Given the description of an element on the screen output the (x, y) to click on. 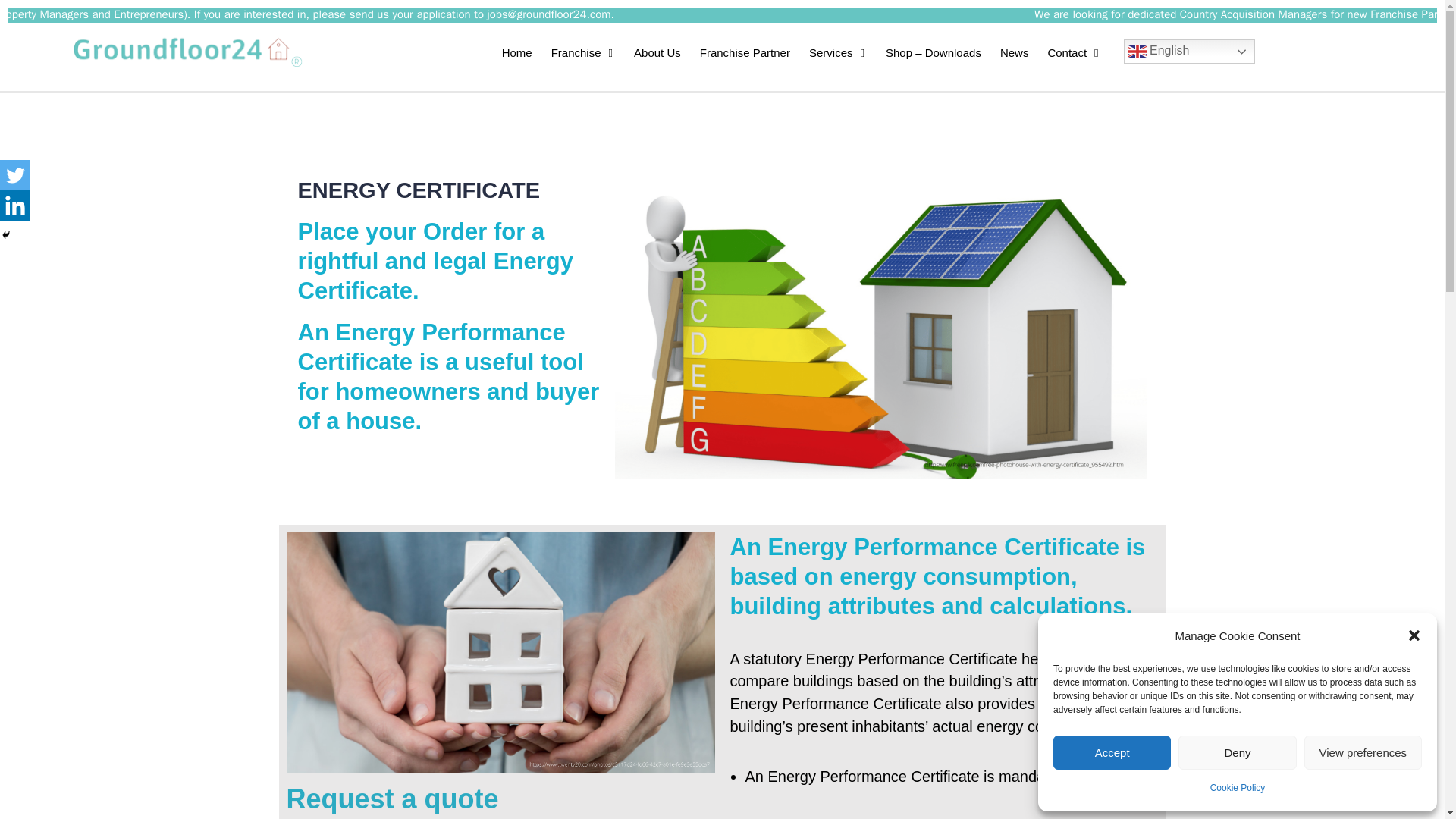
Twitter (15, 174)
Linkedin (15, 205)
Services (838, 53)
Franchise (583, 53)
Cookie Policy (1237, 788)
Franchise Partner (745, 53)
About Us (657, 53)
Contact (1073, 53)
News (1014, 53)
Home (517, 53)
Accept (1111, 752)
View preferences (1363, 752)
Deny (1236, 752)
Hide (5, 234)
